Given the description of an element on the screen output the (x, y) to click on. 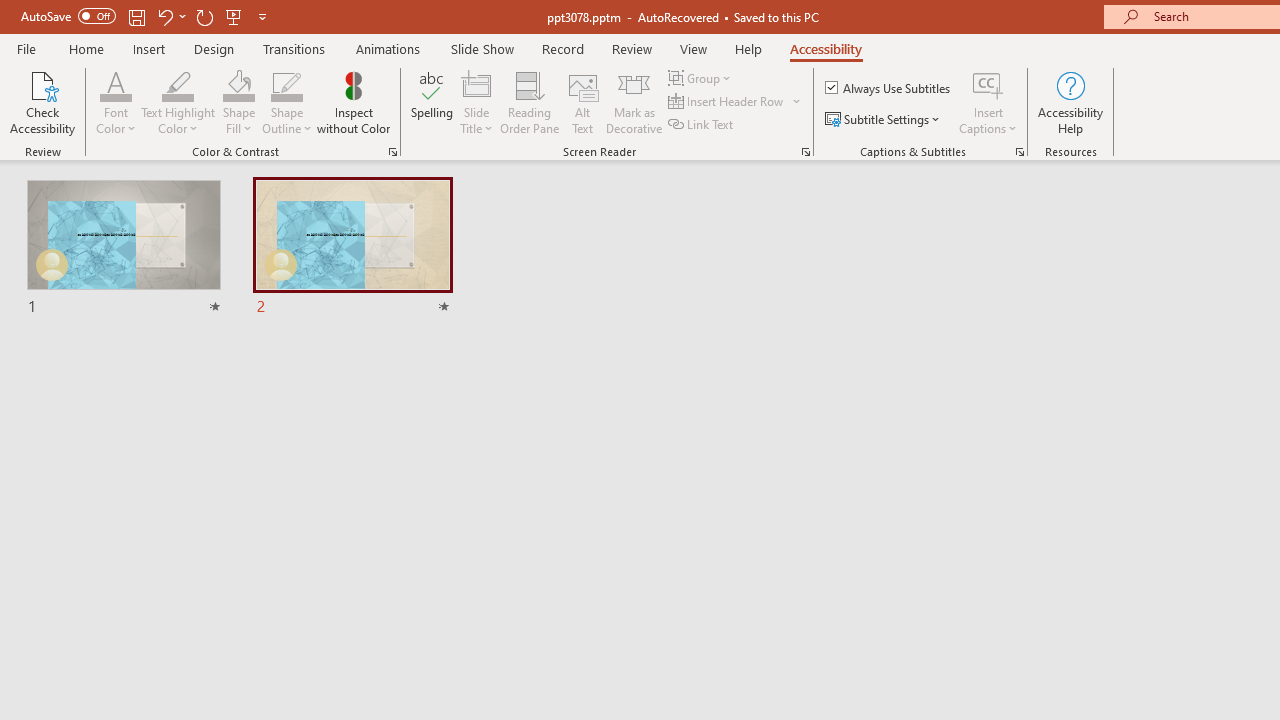
Subtitle Settings (884, 119)
Captions & Subtitles (1019, 151)
Color & Contrast (392, 151)
Spelling... (432, 102)
Insert Captions (988, 102)
Screen Reader (805, 151)
